Given the description of an element on the screen output the (x, y) to click on. 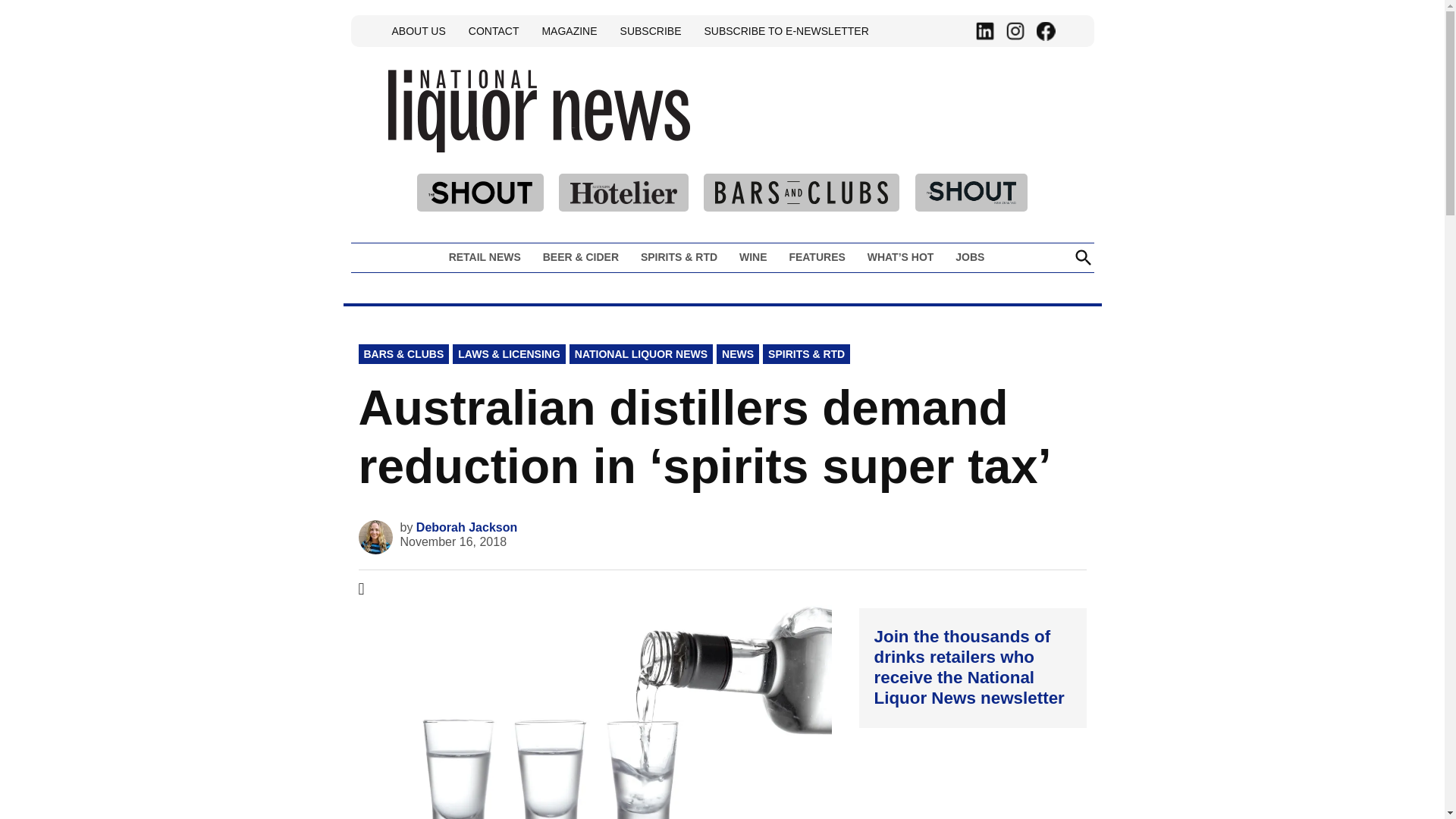
MAGAZINE (568, 30)
ABOUT US (418, 30)
Linkedin (984, 31)
SUBSCRIBE TO E-NEWSLETTER (786, 30)
National Liquor News (733, 144)
CONTACT (493, 30)
RETAIL NEWS (488, 256)
Facebook (1045, 31)
Instagram (1015, 31)
SUBSCRIBE (650, 30)
